Given the description of an element on the screen output the (x, y) to click on. 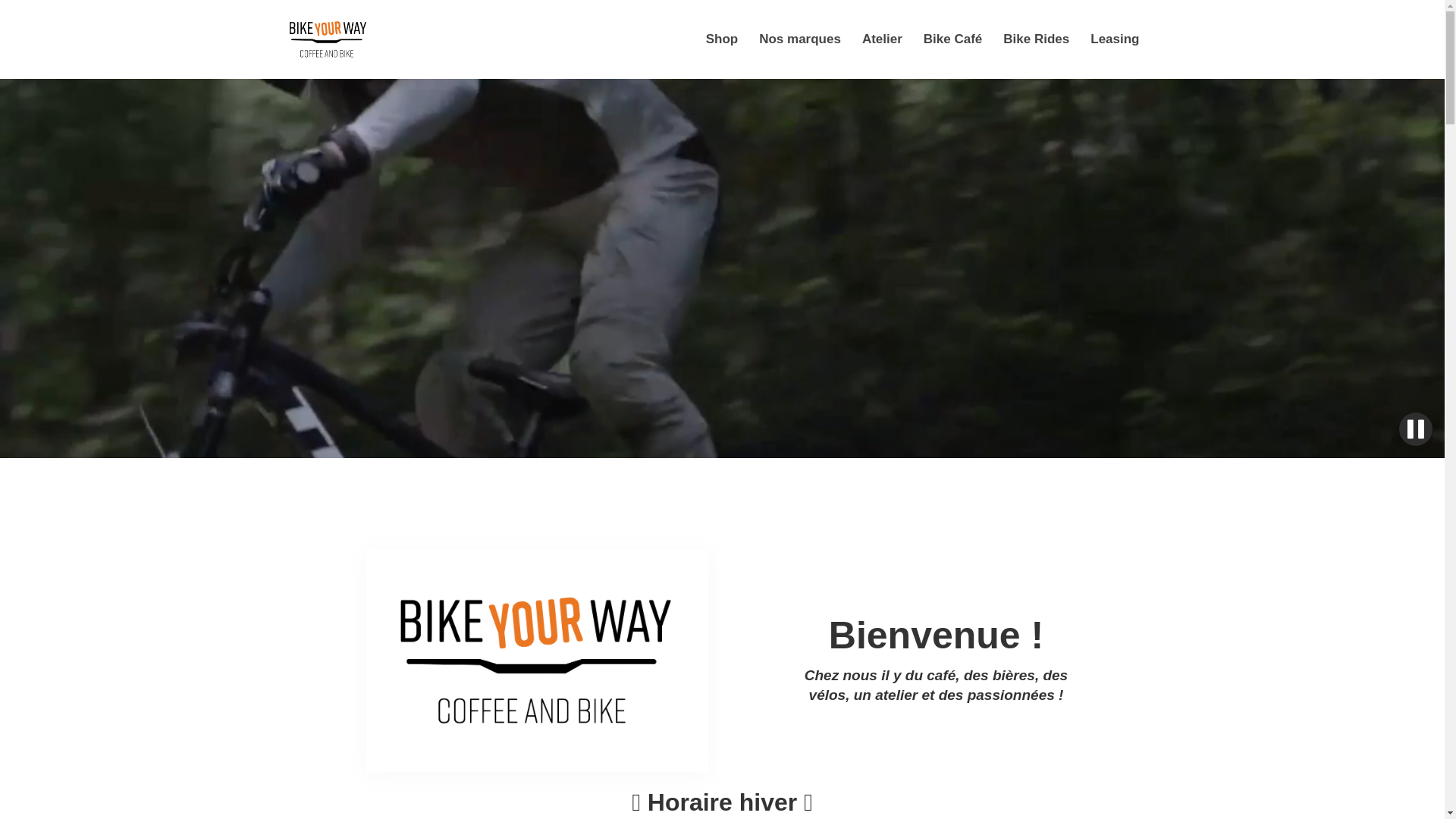
Shop Element type: text (722, 39)
Bike Rides Element type: text (1035, 39)
Atelier Element type: text (882, 39)
Leasing Element type: text (1114, 39)
Nos marques Element type: text (799, 39)
